Given the description of an element on the screen output the (x, y) to click on. 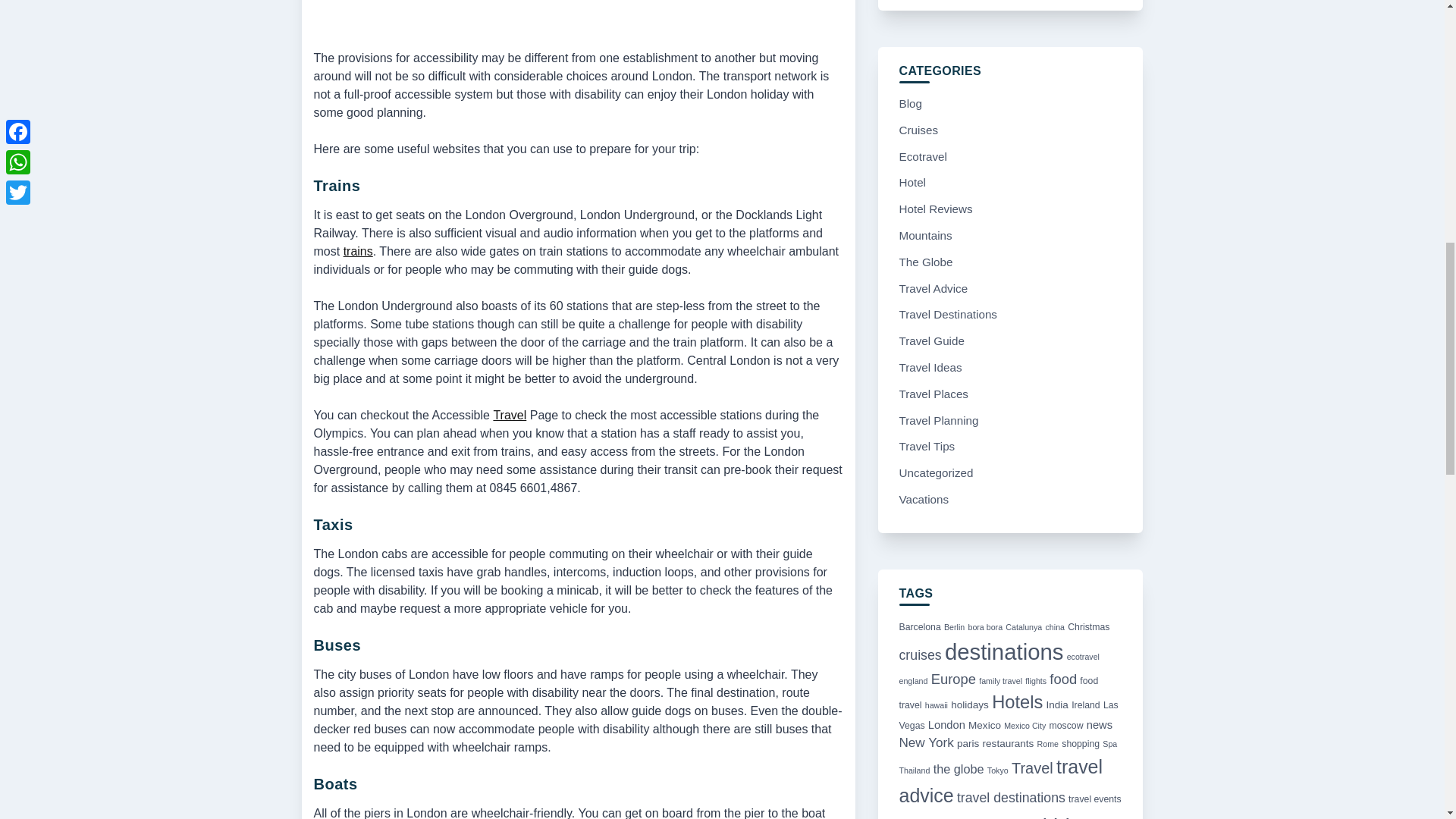
Travel (509, 414)
Hotel Reviews (935, 208)
Travel Places (933, 393)
Ecotravel (923, 155)
Travel Destinations (948, 314)
Travel Planning (938, 420)
Travel Advice (933, 287)
Travel Ideas (930, 367)
Travel Guide (931, 340)
Hotel (912, 182)
